Given the description of an element on the screen output the (x, y) to click on. 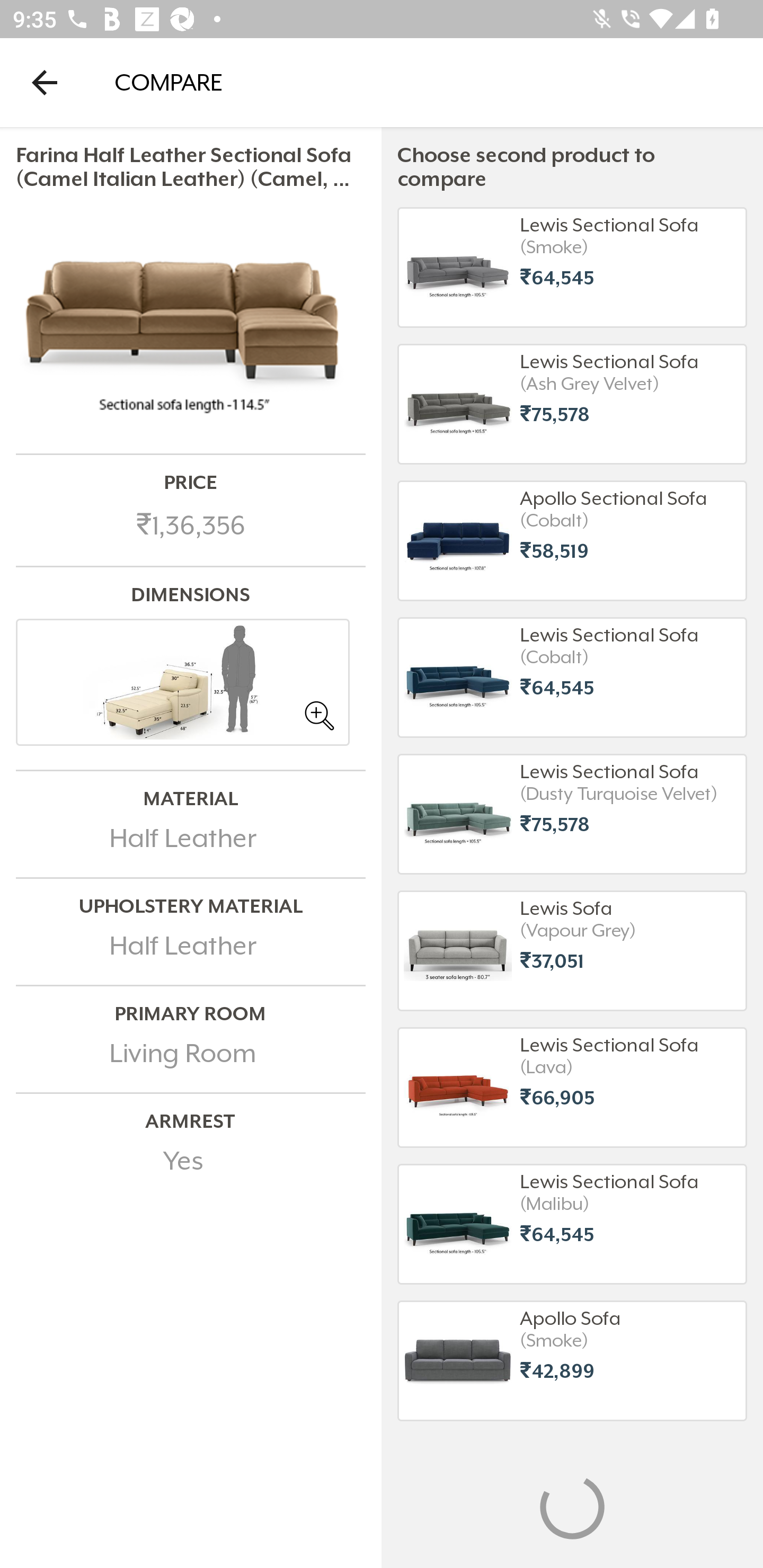
Navigate up (44, 82)
Lewis Sectional Sofa (Smoke) ₹64,545 (571, 266)
Lewis Sectional Sofa (Ash Grey Velvet) ₹75,578 (571, 403)
Apollo Sectional Sofa (Cobalt) ₹58,519 (571, 539)
Lewis Sectional Sofa (Cobalt) ₹64,545 (571, 677)
Lewis Sofa (Vapour Grey) ₹37,051 (571, 950)
Lewis Sectional Sofa (Lava) ₹66,905 (571, 1087)
Lewis Sectional Sofa (Malibu) ₹64,545 (571, 1223)
Apollo Sofa (Smoke) ₹42,899 (571, 1359)
